Given the description of an element on the screen output the (x, y) to click on. 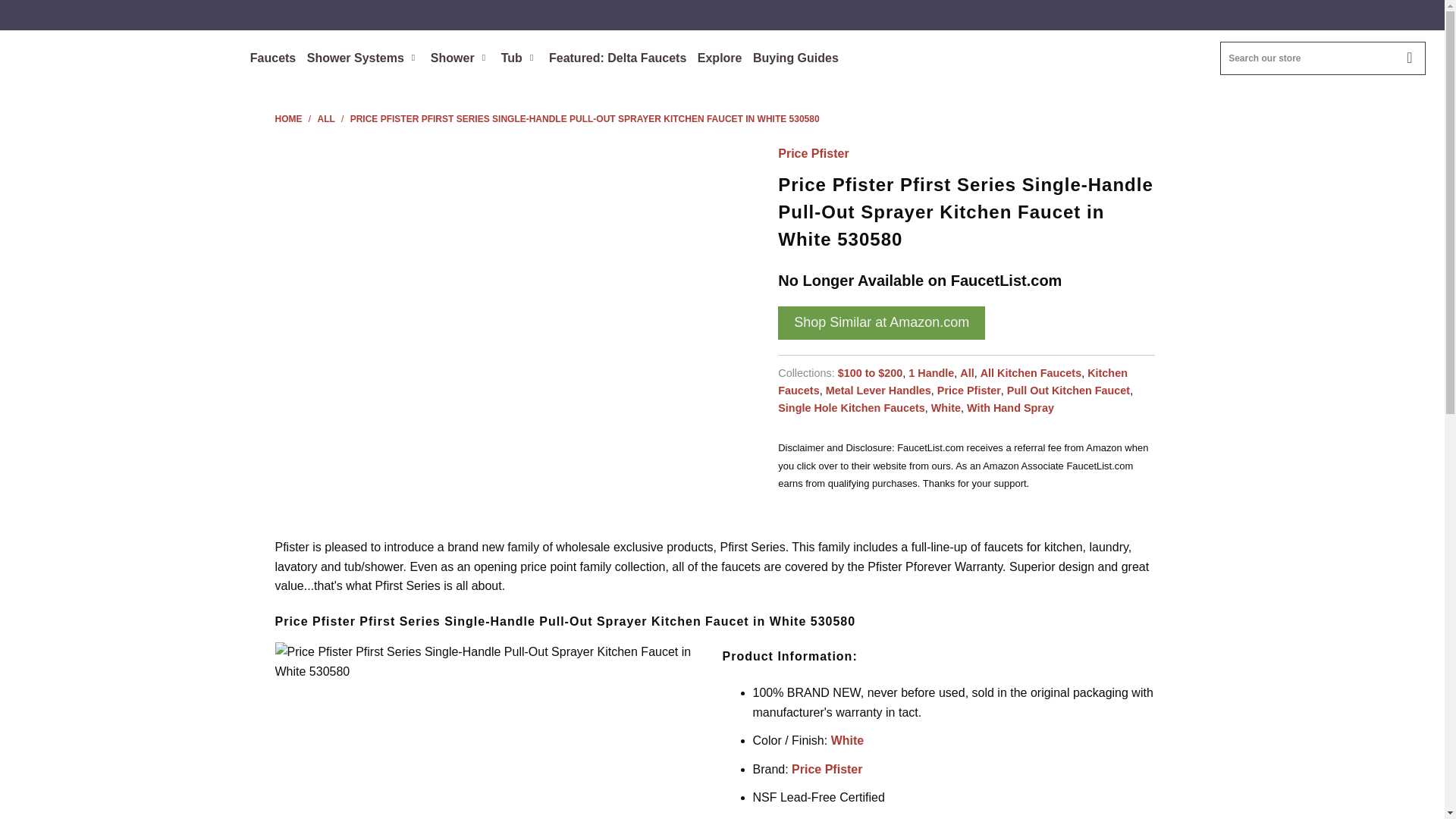
Kitchen Faucets (951, 381)
All (327, 118)
Shop Similar at Amazon.com (881, 322)
With Hand Spray (1010, 408)
Pull Out Kitchen Faucet (1068, 390)
All (966, 372)
Price Pfister (969, 390)
1 Handle (930, 372)
FaucetList.com (122, 41)
Metal Lever Handles (878, 390)
All Kitchen Faucets (1030, 372)
White (945, 408)
Single Hole Kitchen Faucets (850, 408)
FaucetList.com (288, 118)
